Given the description of an element on the screen output the (x, y) to click on. 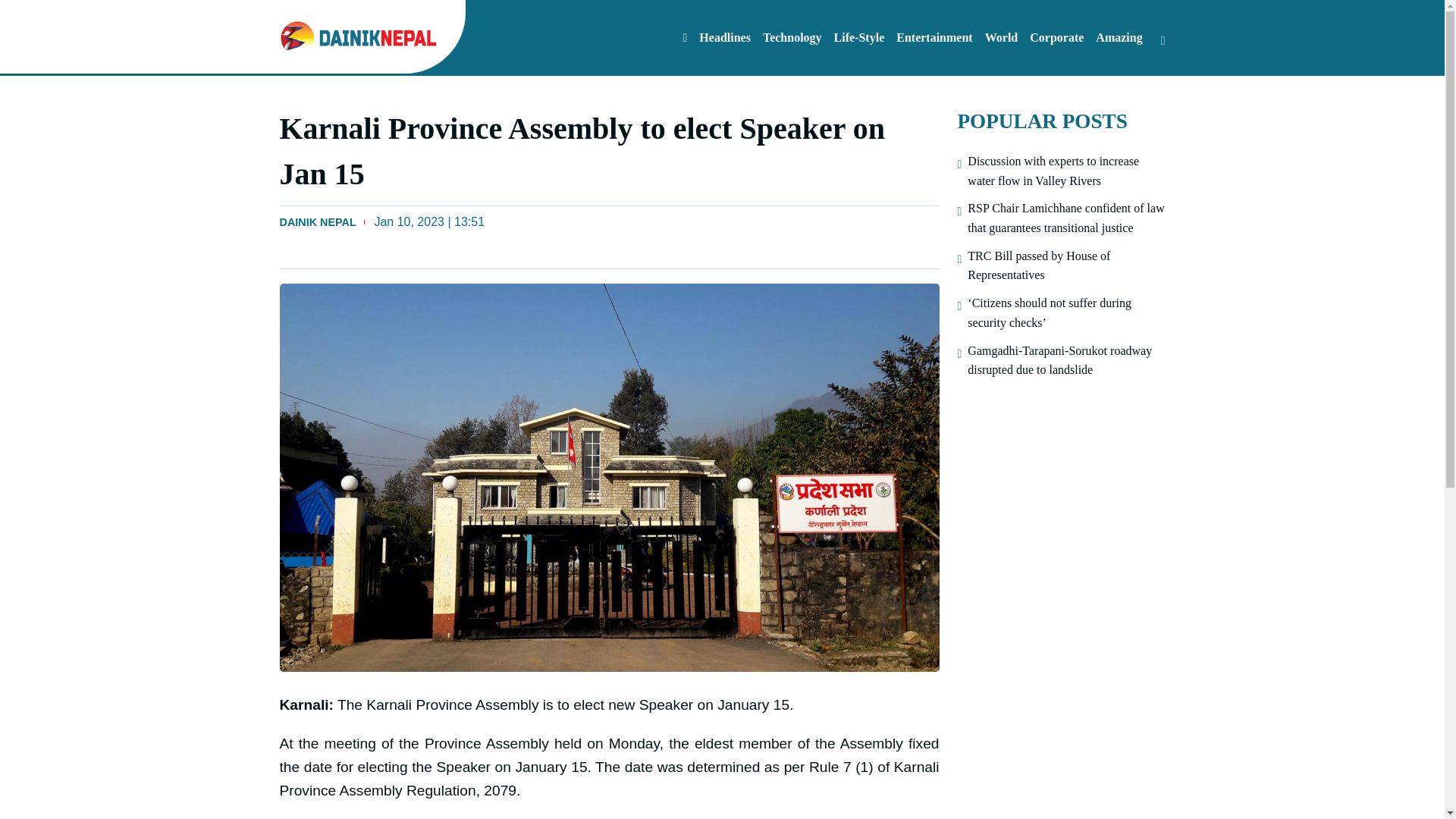
World (1001, 37)
TRC Bill passed by House of Representatives (1066, 265)
Technology (792, 37)
Life-Style (859, 37)
Corporate (1056, 37)
Gamgadhi-Tarapani-Sorukot roadway disrupted due to landslide (1066, 360)
Amazing (1118, 37)
Entertainment (933, 37)
